Given the description of an element on the screen output the (x, y) to click on. 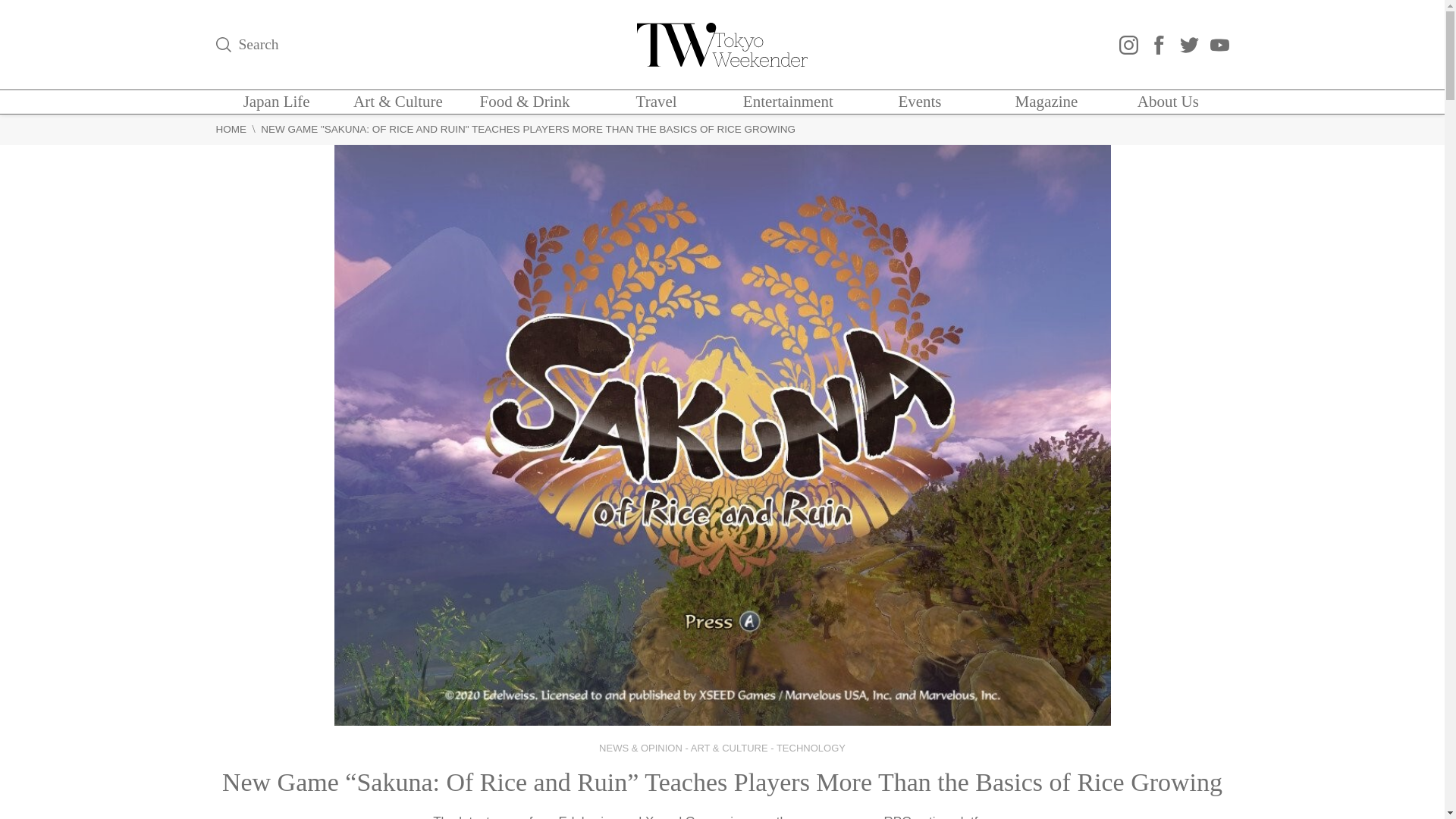
Japan Life (276, 101)
Magazine (1046, 101)
Events (919, 101)
Entertainment (787, 101)
About Us (1167, 101)
Travel (656, 101)
